Given the description of an element on the screen output the (x, y) to click on. 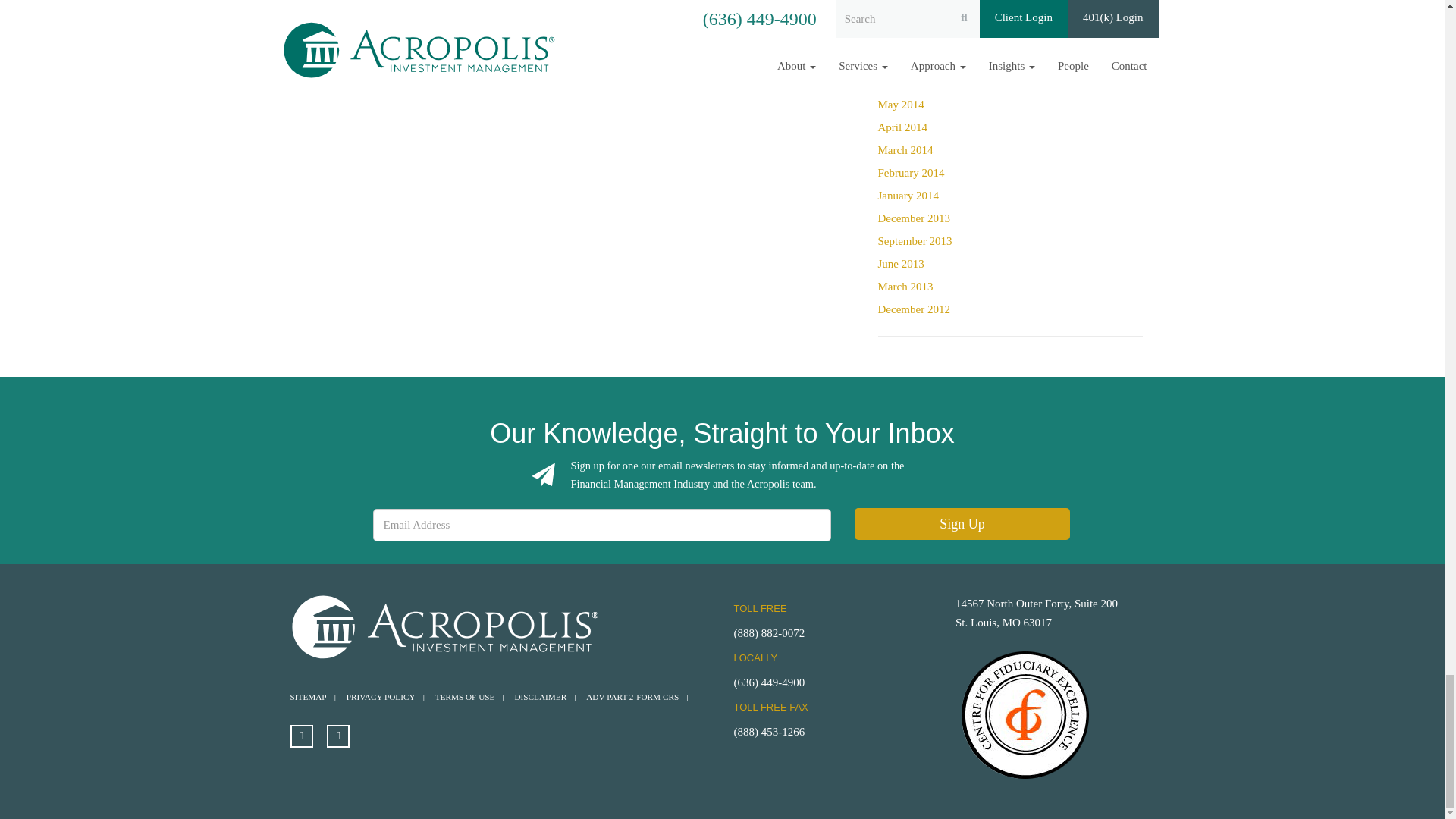
Sign Up (962, 523)
